Given the description of an element on the screen output the (x, y) to click on. 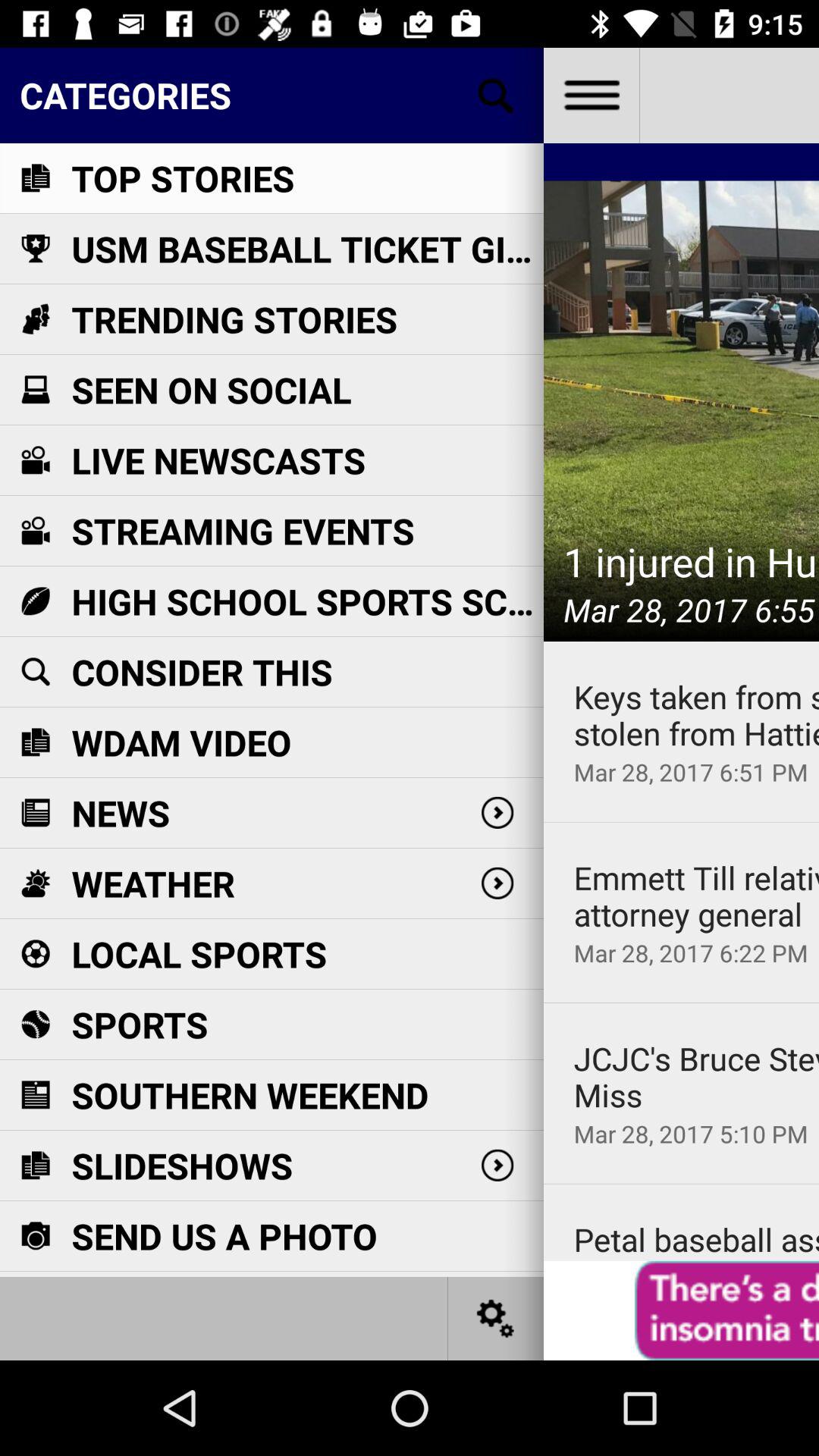
icon left to slideshows (35, 1165)
